Given the description of an element on the screen output the (x, y) to click on. 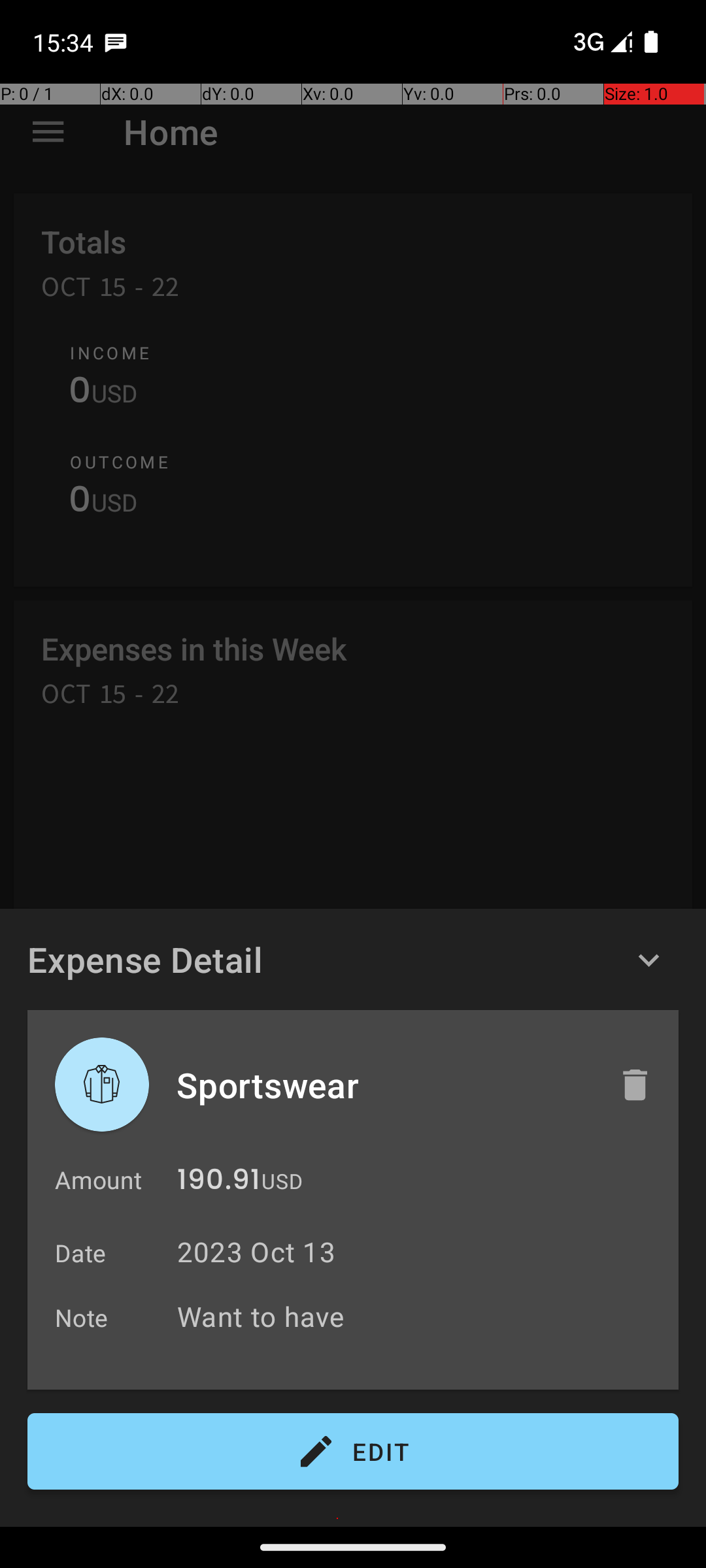
Sportswear Element type: android.widget.TextView (383, 1084)
190.91 Element type: android.widget.TextView (218, 1182)
SMS Messenger notification: Martin Chen Element type: android.widget.ImageView (115, 41)
